Given the description of an element on the screen output the (x, y) to click on. 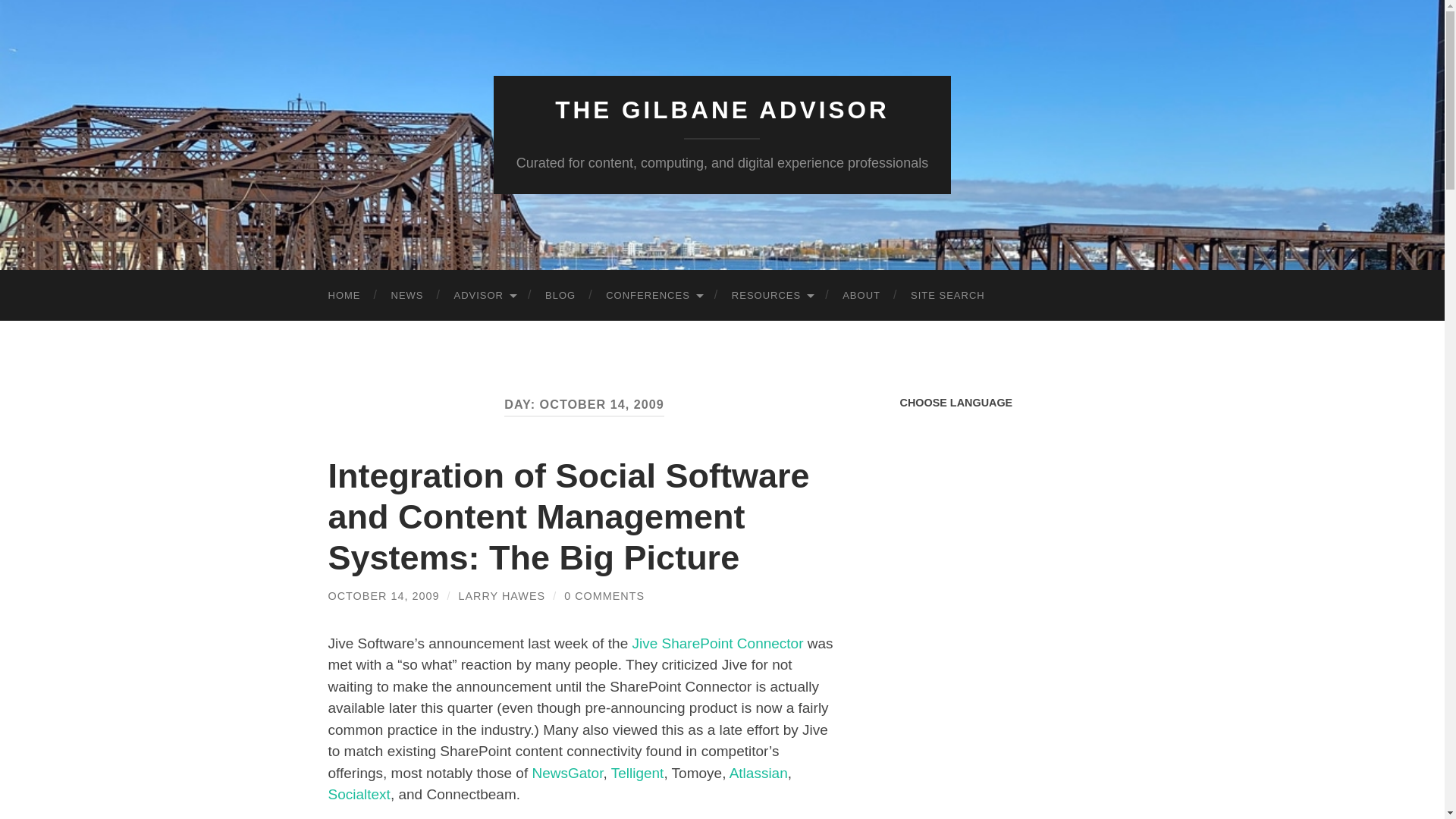
NewsGator (566, 772)
Telligent (637, 772)
HOME (344, 295)
BLOG (560, 295)
Posts by Larry Hawes (501, 595)
Atlassian (758, 772)
ABOUT (861, 295)
RESOURCES (771, 295)
NEWS (407, 295)
SITE SEARCH (947, 295)
